Given the description of an element on the screen output the (x, y) to click on. 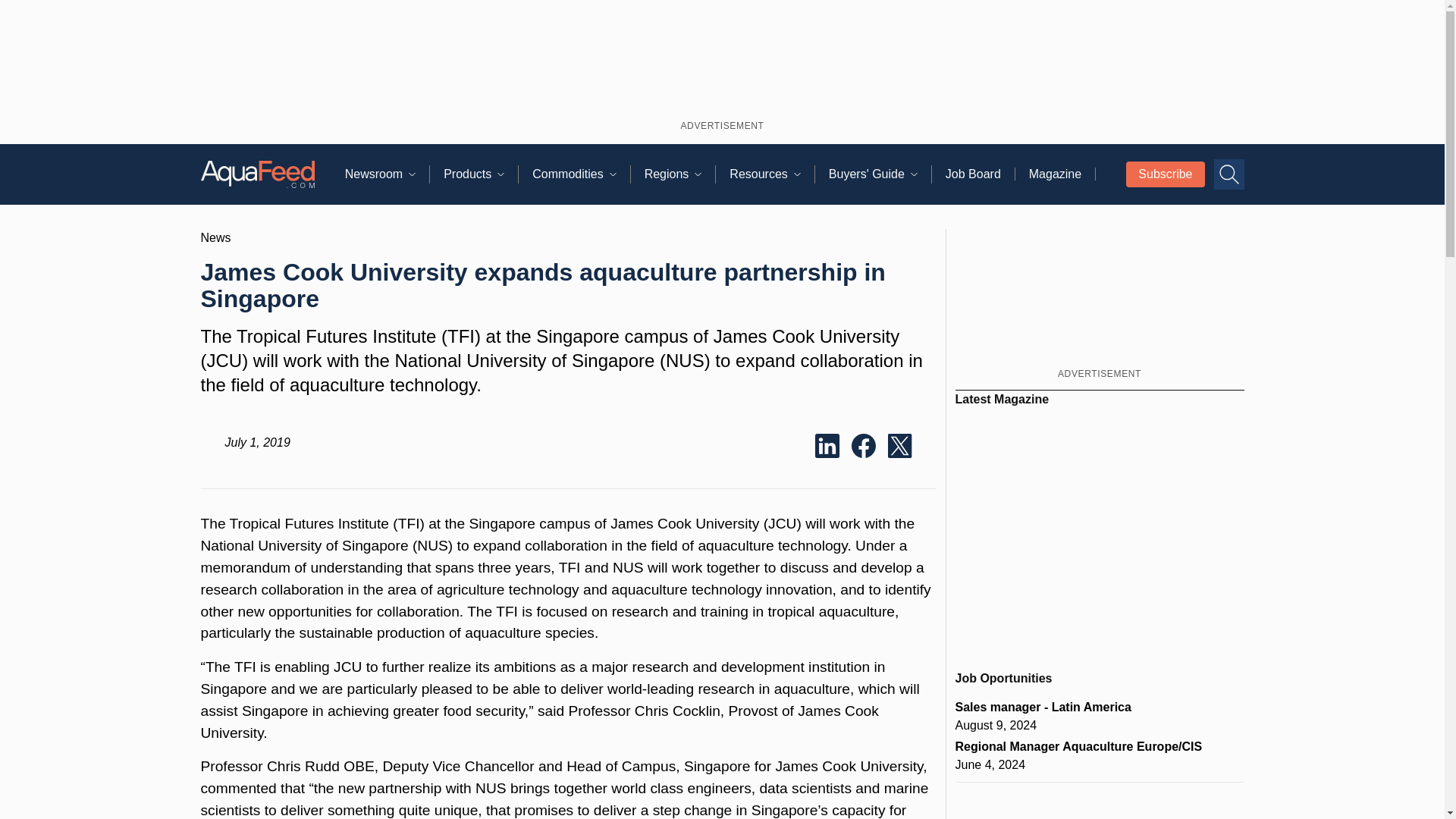
Commodities (581, 174)
Regions (680, 174)
Newsroom (387, 174)
Resources (771, 174)
Buyers' Guide (879, 174)
Products (481, 174)
Magazine viewer (1099, 532)
